Given the description of an element on the screen output the (x, y) to click on. 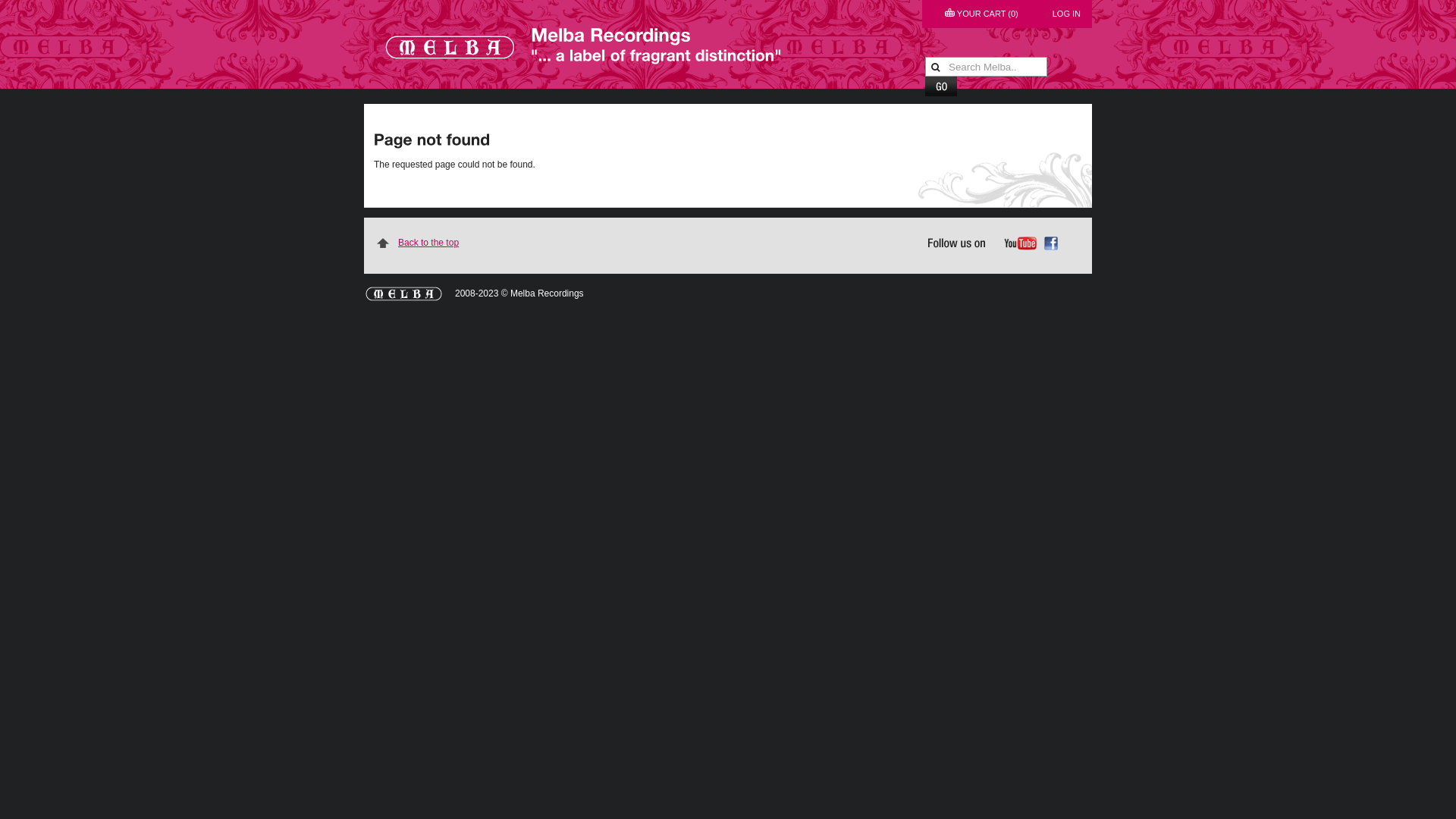
Back to the top Element type: text (605, 242)
LOG IN Element type: text (1066, 13)
YOUR CART (0) Element type: text (981, 13)
